Given the description of an element on the screen output the (x, y) to click on. 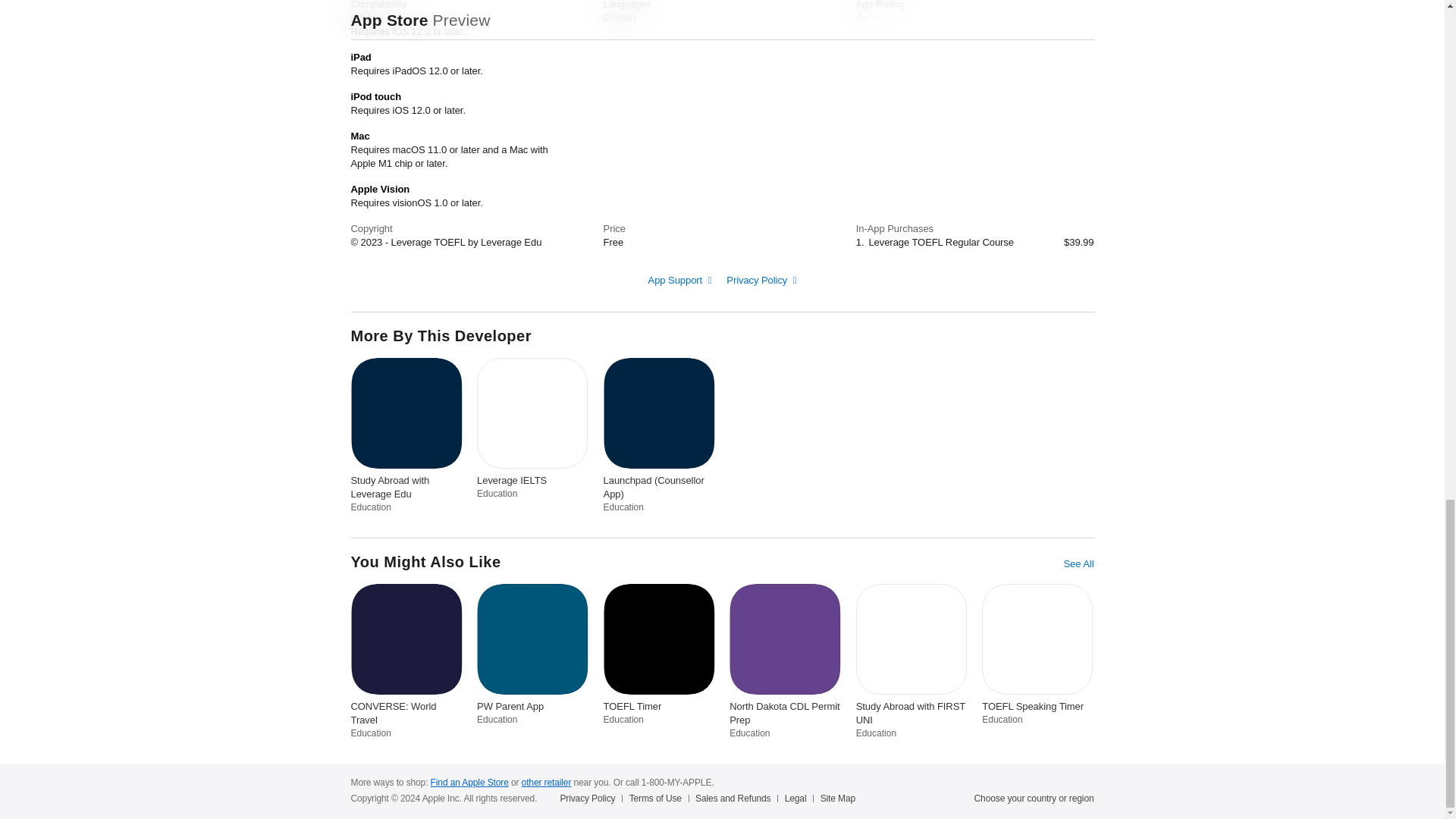
Privacy Policy (761, 279)
Choose your country or region (1034, 798)
See All (1077, 563)
App Support (679, 279)
